Given the description of an element on the screen output the (x, y) to click on. 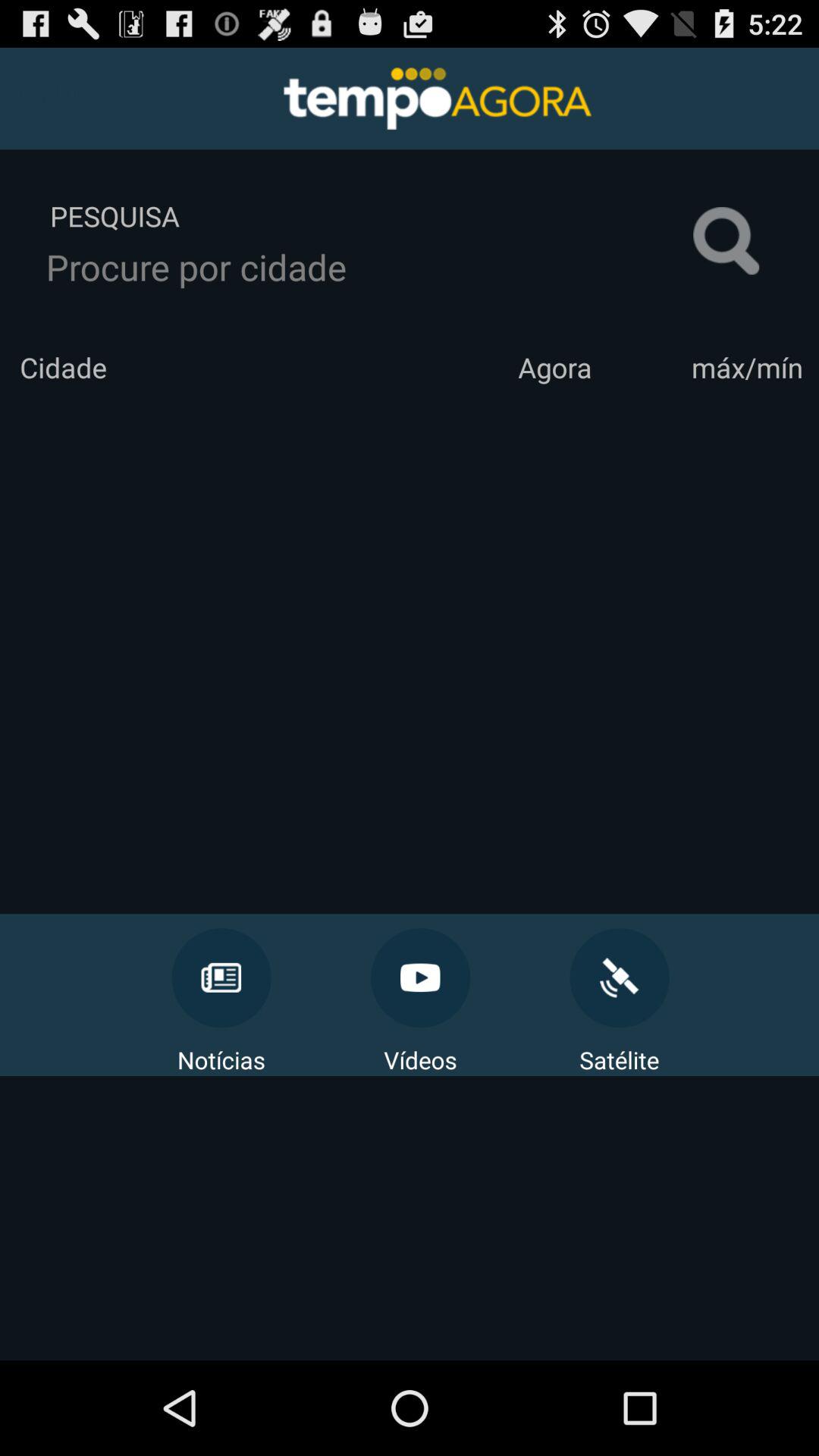
tap the item below the pesquisa item (369, 266)
